Given the description of an element on the screen output the (x, y) to click on. 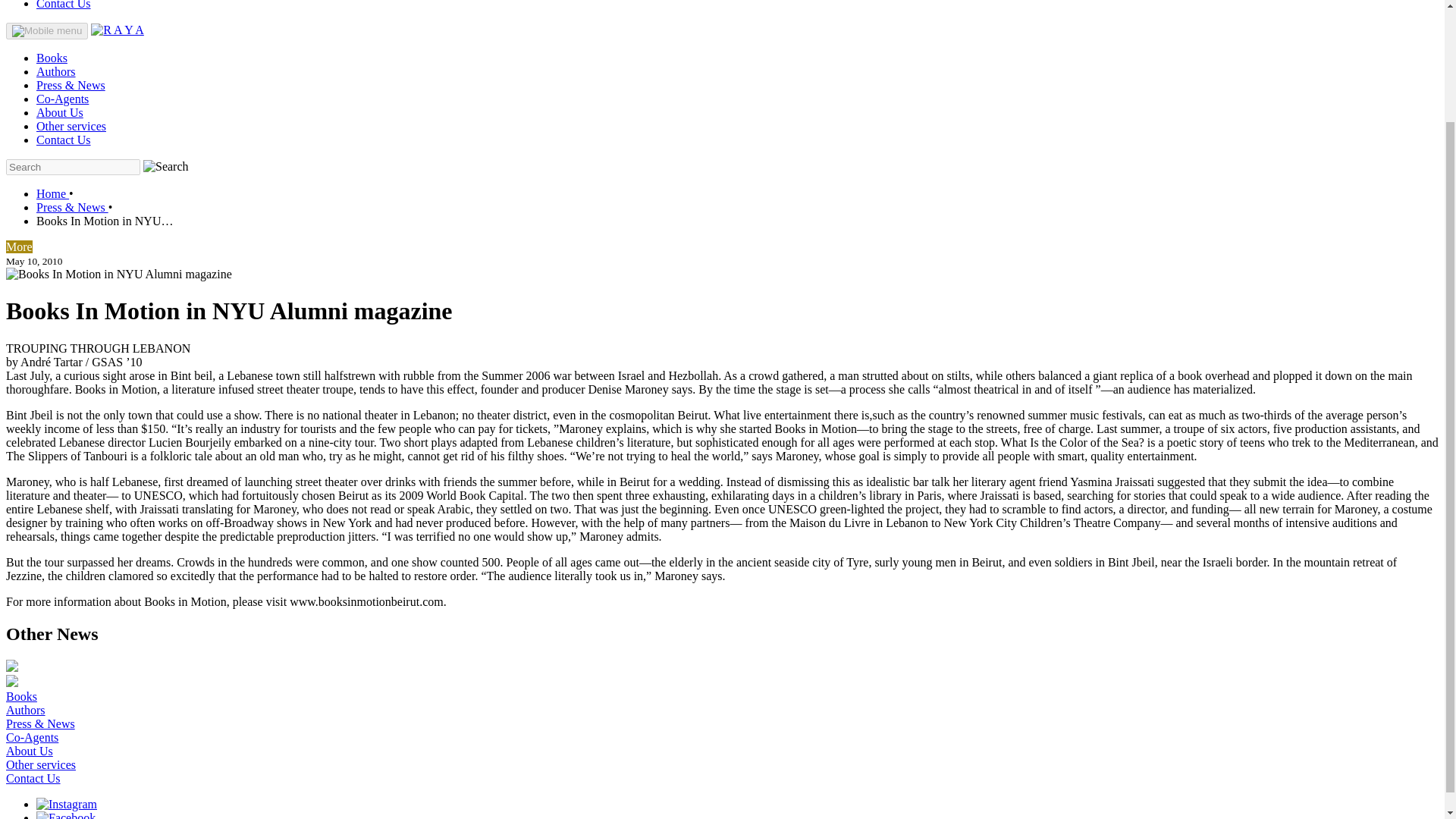
Home (52, 193)
About Us (28, 750)
Other services (71, 125)
Contact Us (63, 4)
Other services (40, 764)
Co-Agents (62, 98)
Books (51, 57)
Co-Agents (31, 737)
Authors (55, 71)
Contact Us (33, 778)
